Given the description of an element on the screen output the (x, y) to click on. 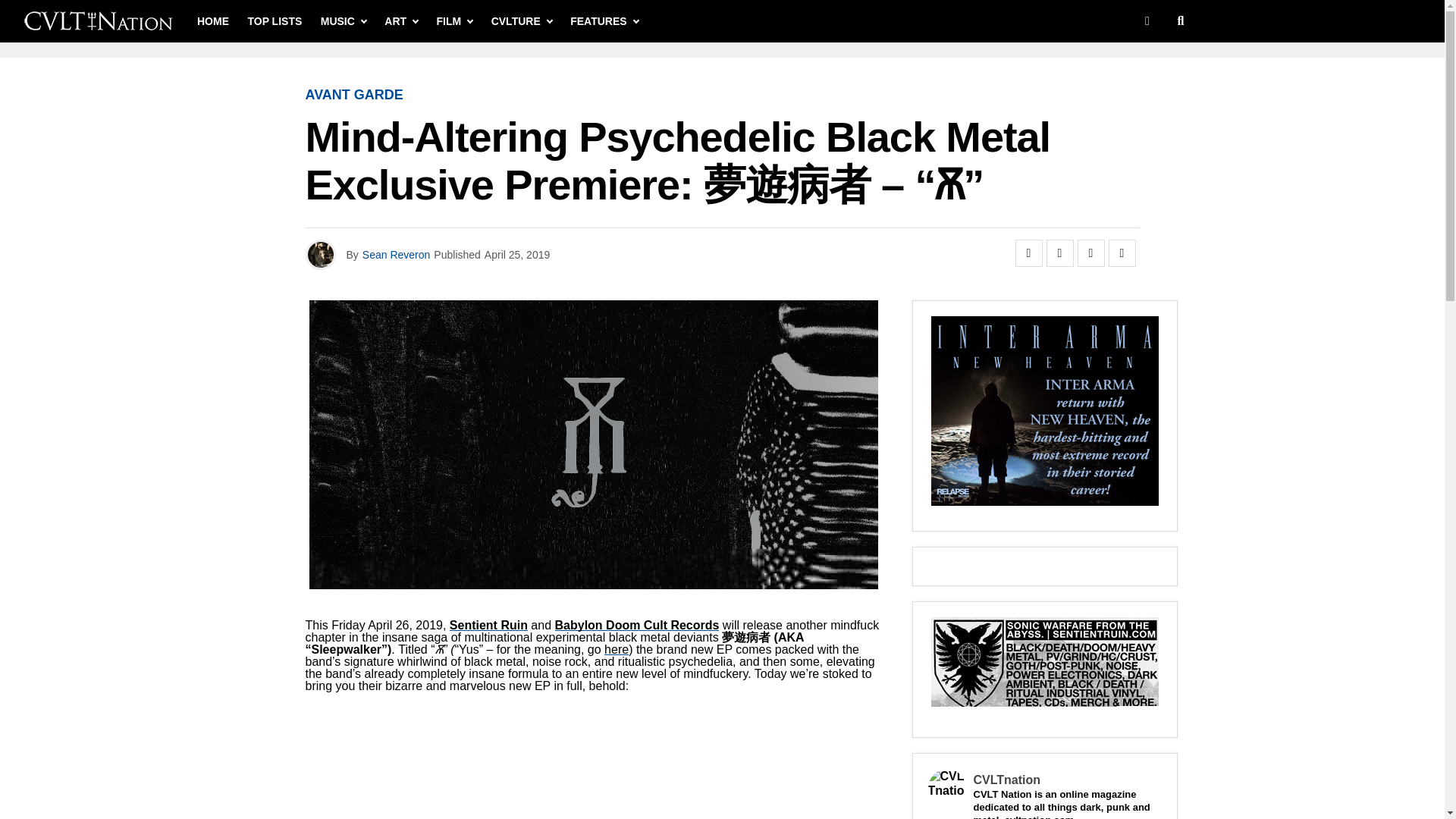
Tweet This Post (1060, 252)
Share on Flipboard (1090, 252)
Share on Facebook (1028, 252)
Posts by Sean Reveron (396, 254)
